Given the description of an element on the screen output the (x, y) to click on. 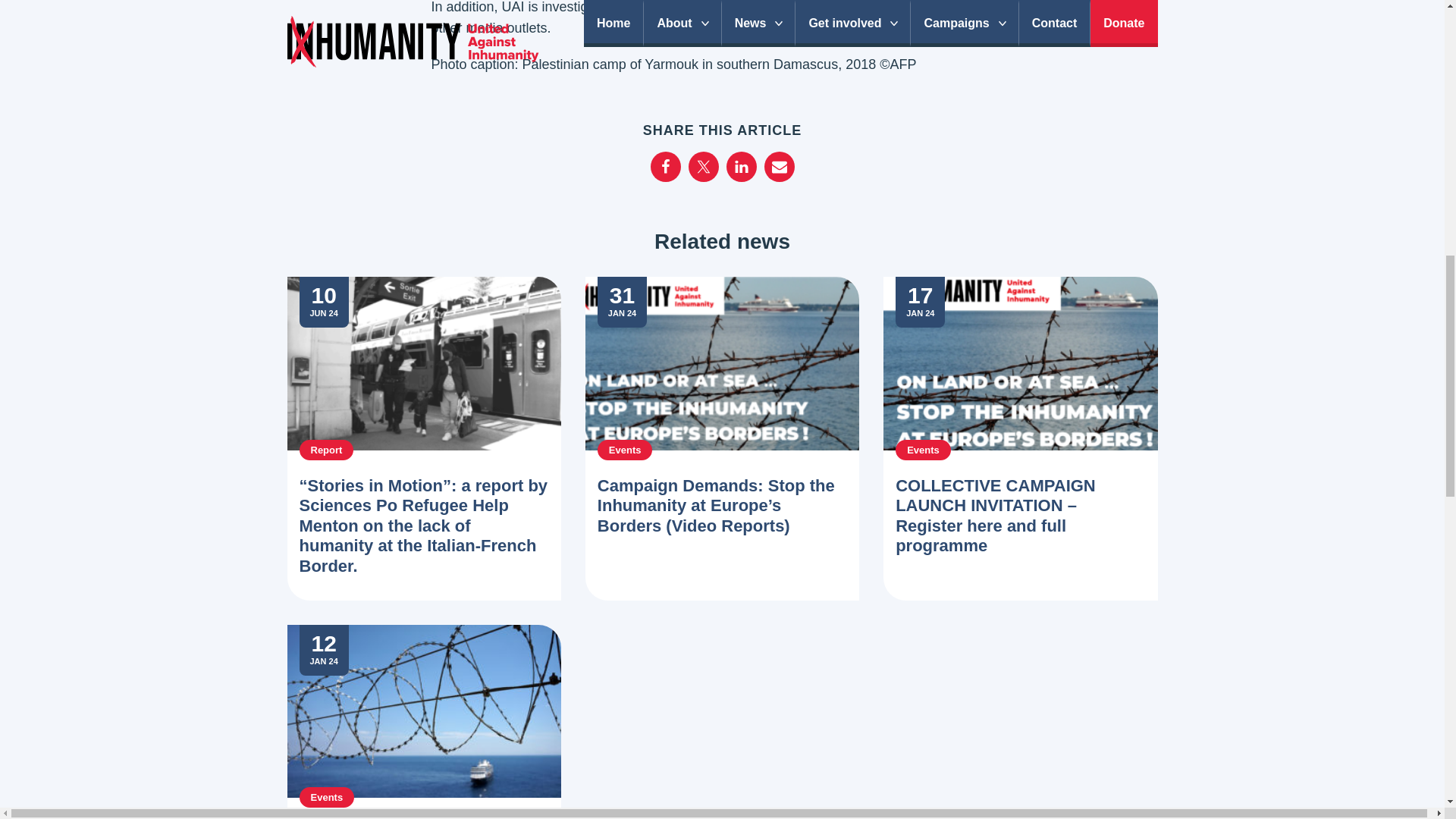
Report (325, 449)
Share on LinkedIn (741, 166)
Share via Email (779, 166)
Share on Facebook (665, 166)
Share on Twitter (703, 166)
